Given the description of an element on the screen output the (x, y) to click on. 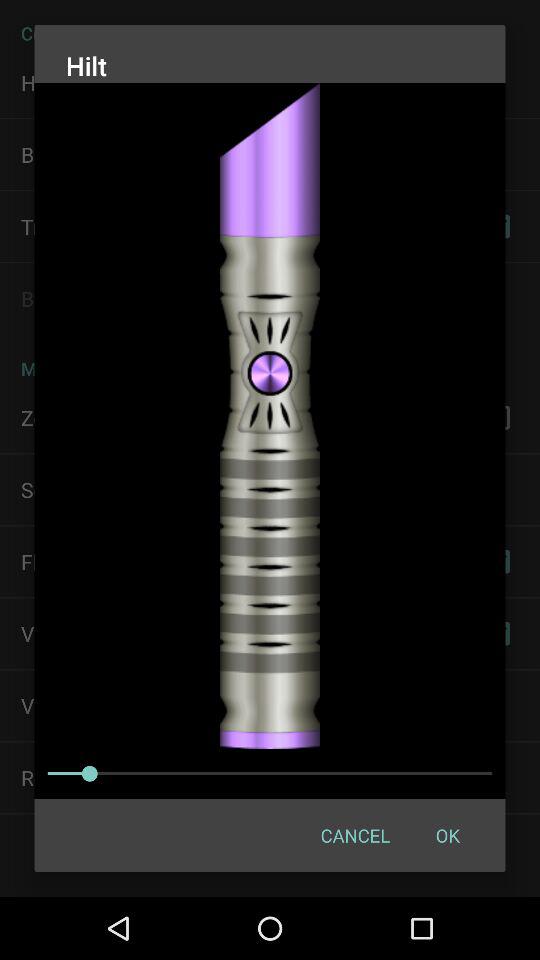
select the icon to the right of the cancel button (447, 834)
